Given the description of an element on the screen output the (x, y) to click on. 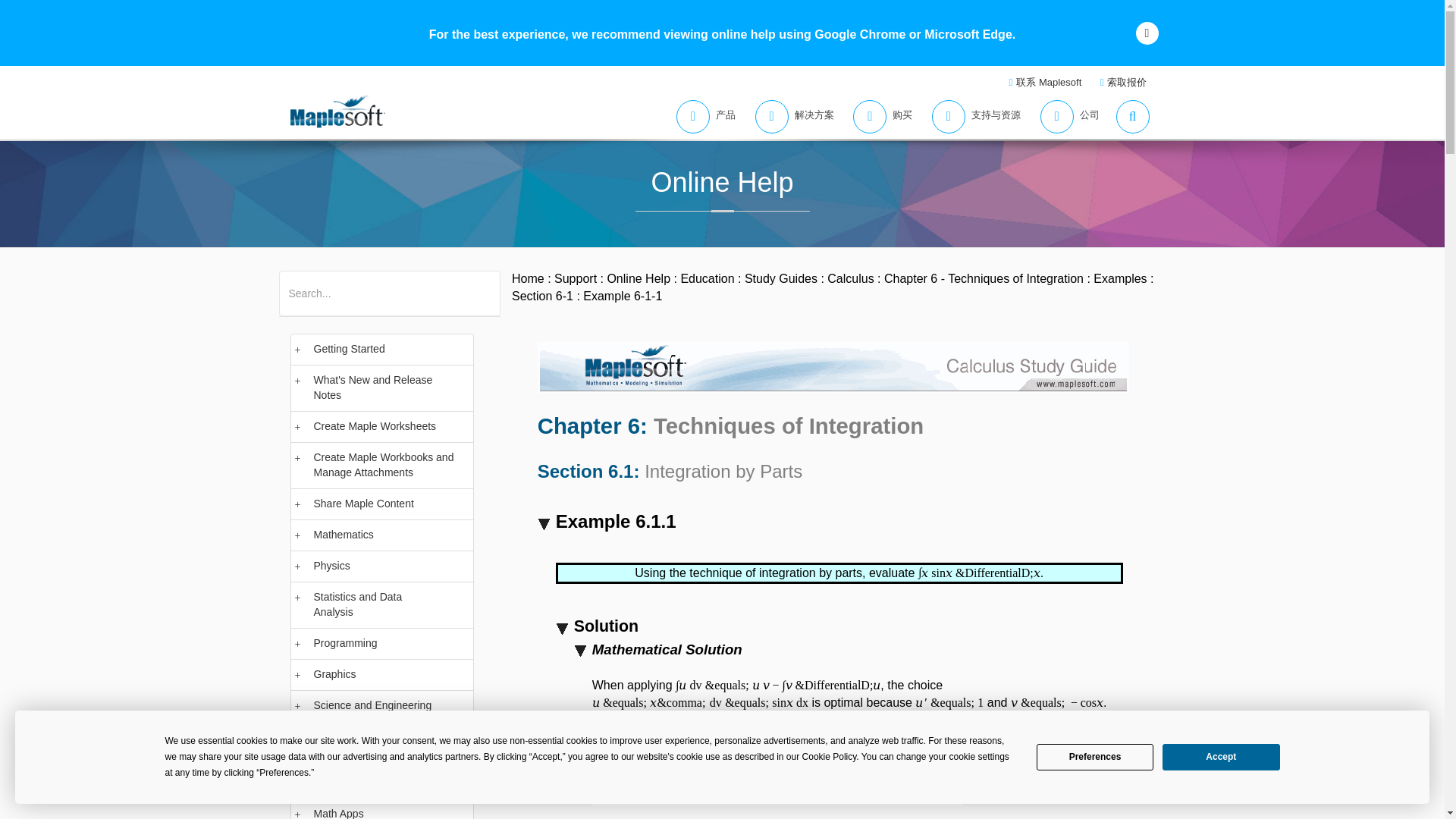
Preferences (1094, 756)
Maple (367, 284)
Accept (1220, 756)
All (294, 284)
MapleSim (415, 284)
